Given the description of an element on the screen output the (x, y) to click on. 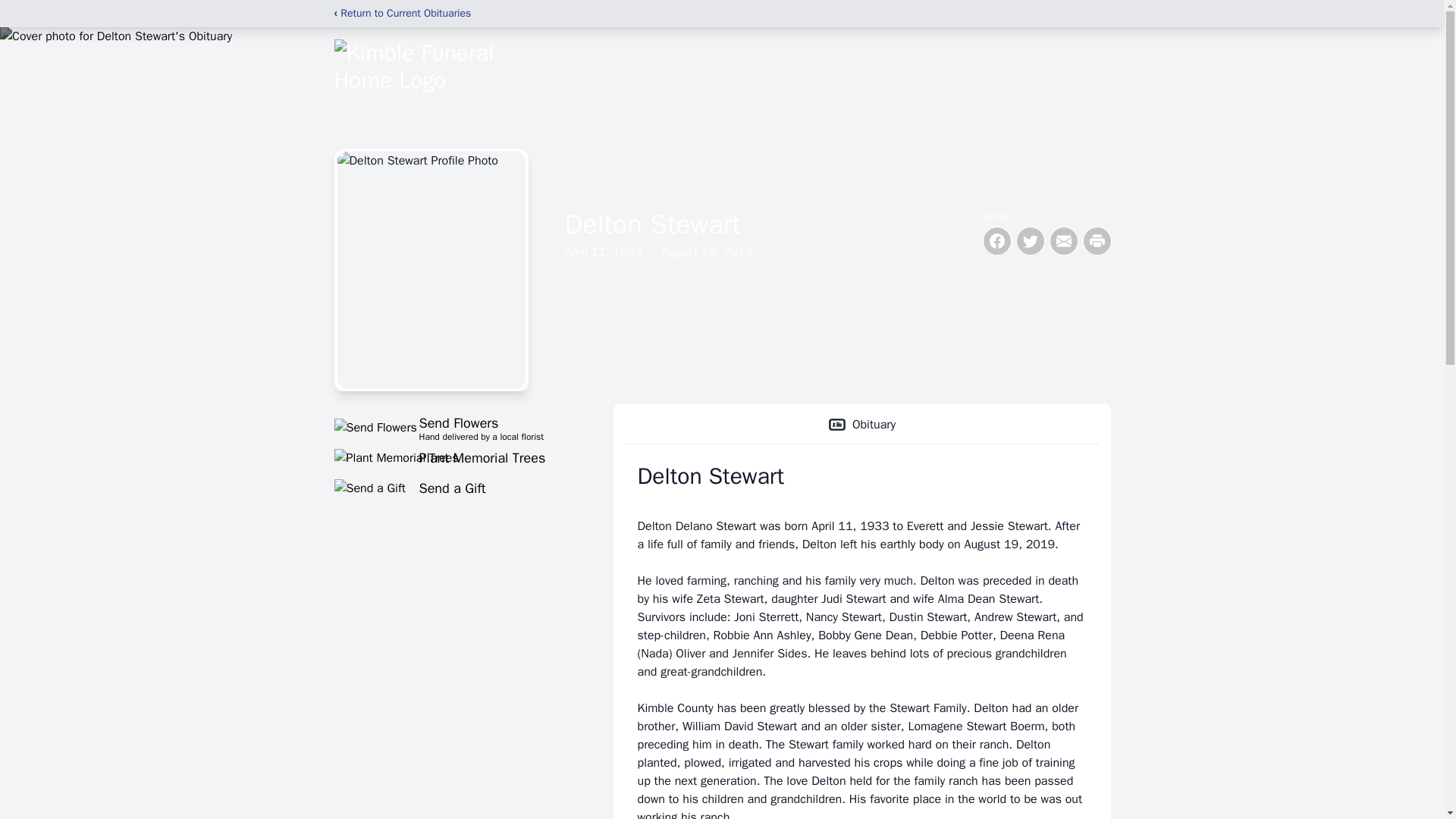
Plant Memorial Trees (454, 457)
Send a Gift (454, 427)
Obituary (454, 488)
